Given the description of an element on the screen output the (x, y) to click on. 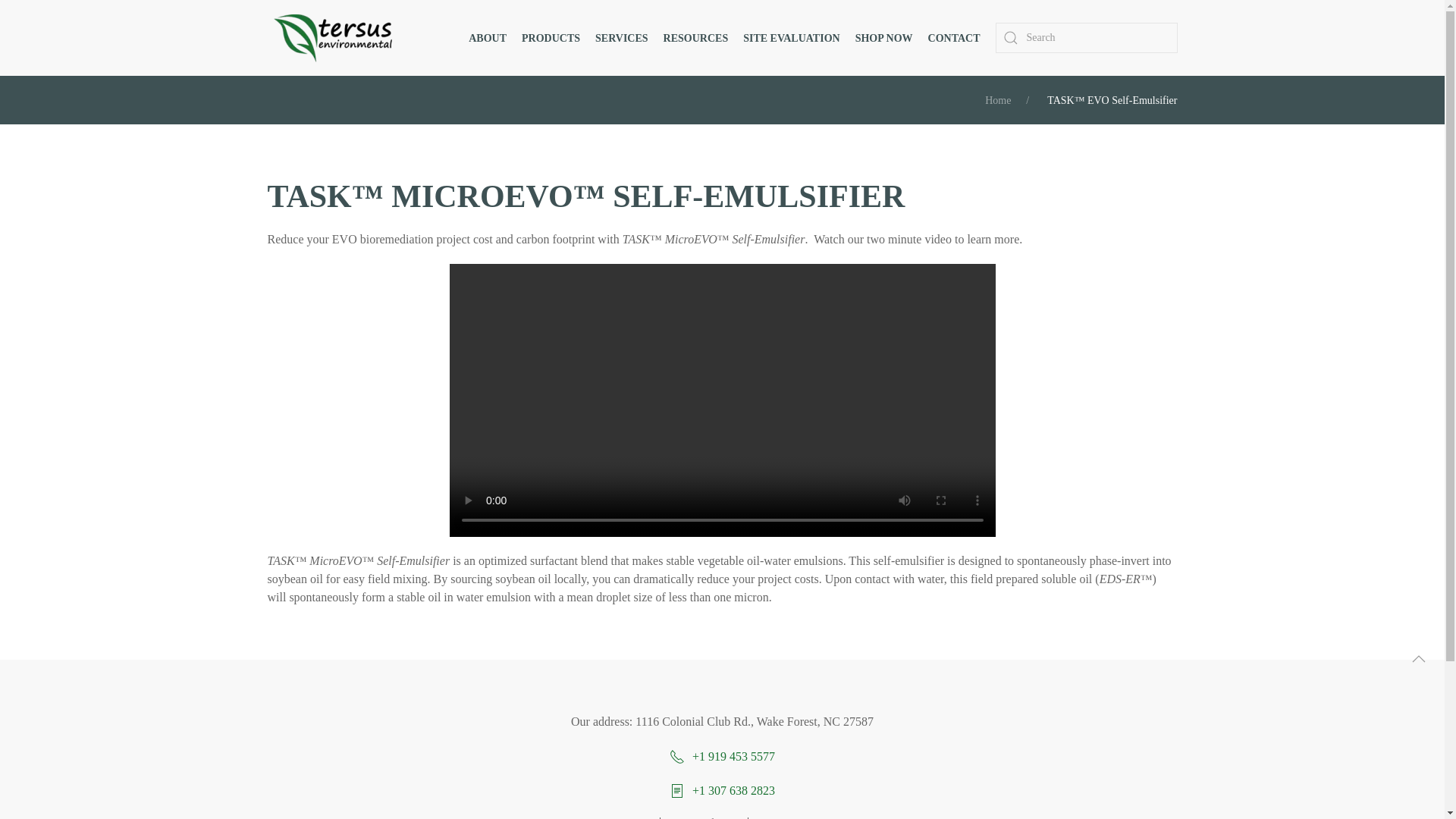
To top (1418, 658)
Request a Design (791, 37)
PRODUCTS (550, 37)
Tersus Online Library  (696, 37)
Online Store (884, 37)
RESOURCES (696, 37)
